Given the description of an element on the screen output the (x, y) to click on. 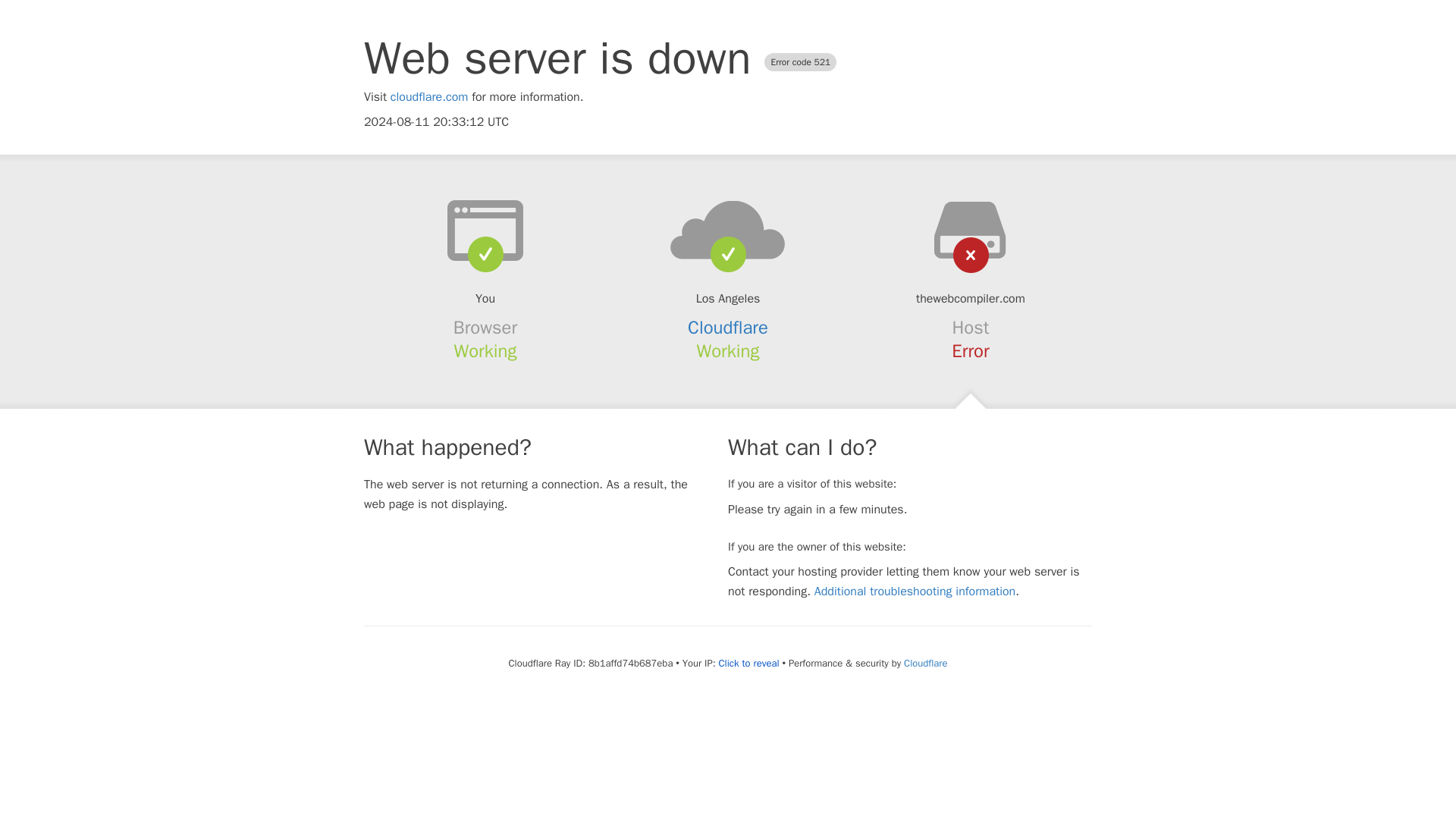
Click to reveal (748, 663)
Cloudflare (925, 662)
Cloudflare (727, 327)
Additional troubleshooting information (913, 590)
cloudflare.com (429, 96)
